Given the description of an element on the screen output the (x, y) to click on. 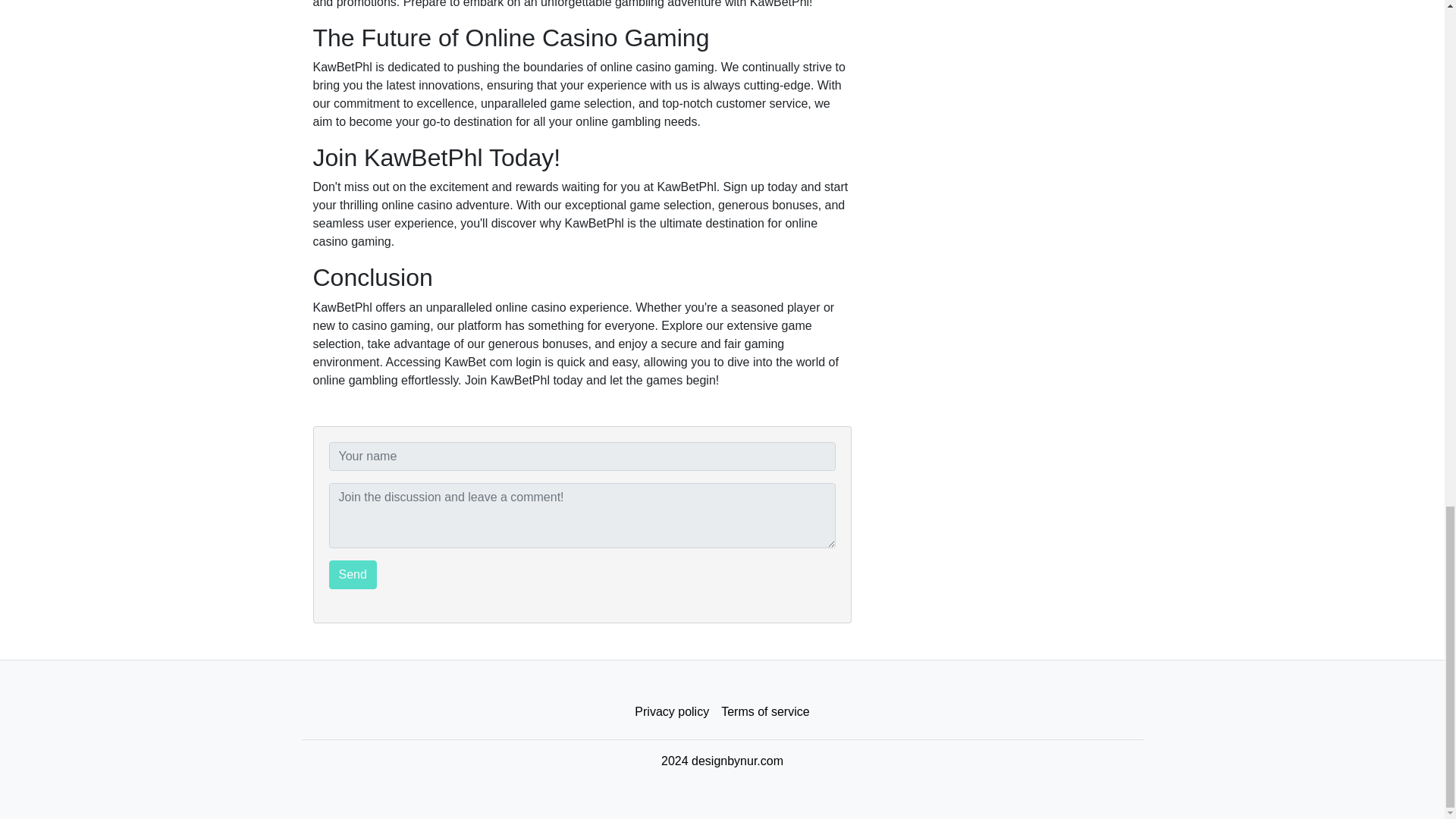
Send (353, 574)
Send (353, 574)
Privacy policy (671, 711)
Terms of service (764, 711)
